Given the description of an element on the screen output the (x, y) to click on. 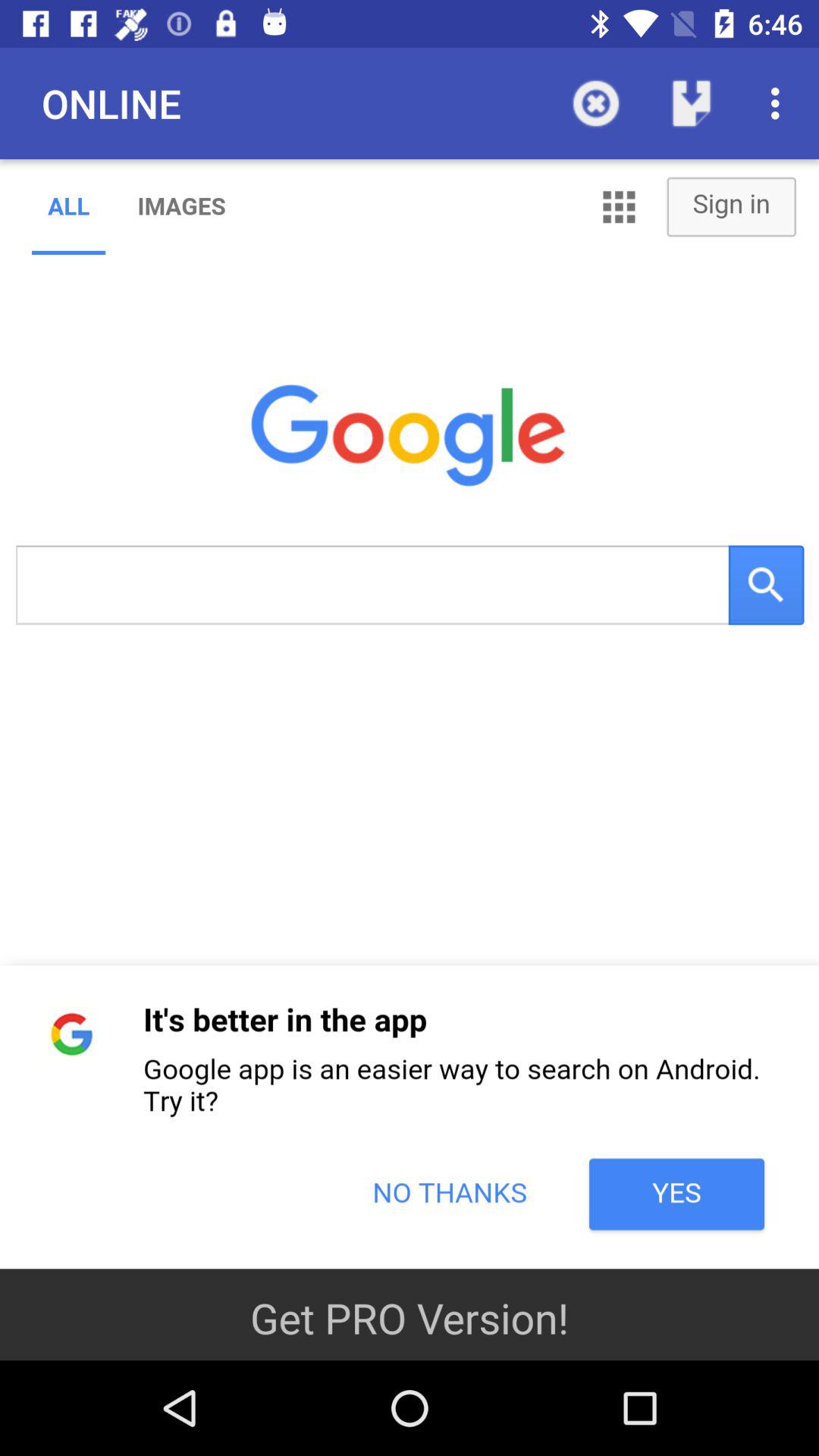
google search (409, 713)
